Given the description of an element on the screen output the (x, y) to click on. 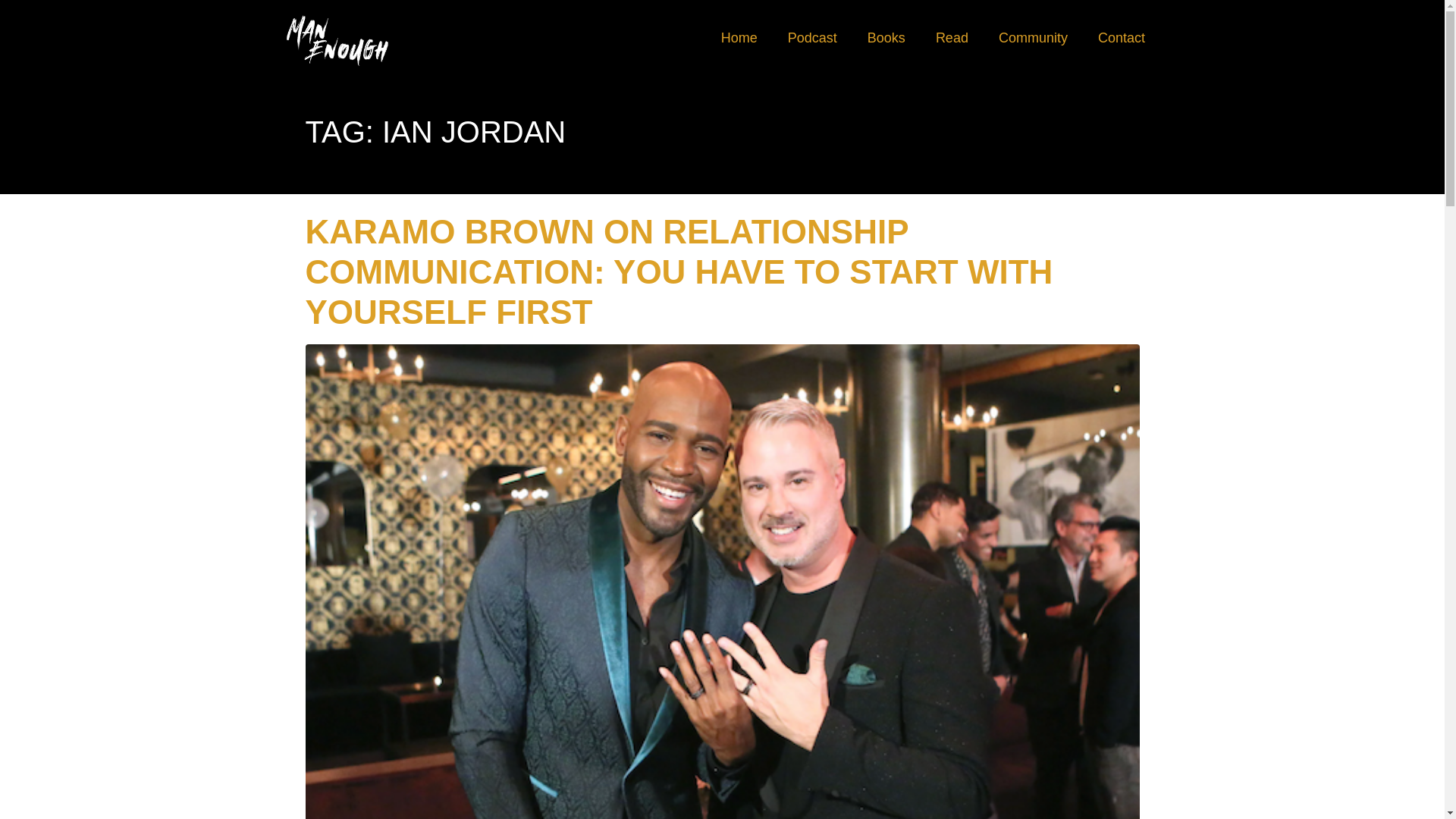
Contact (1121, 38)
Books (885, 38)
Community (1033, 38)
Read (952, 38)
Home (739, 38)
Podcast (812, 38)
